Given the description of an element on the screen output the (x, y) to click on. 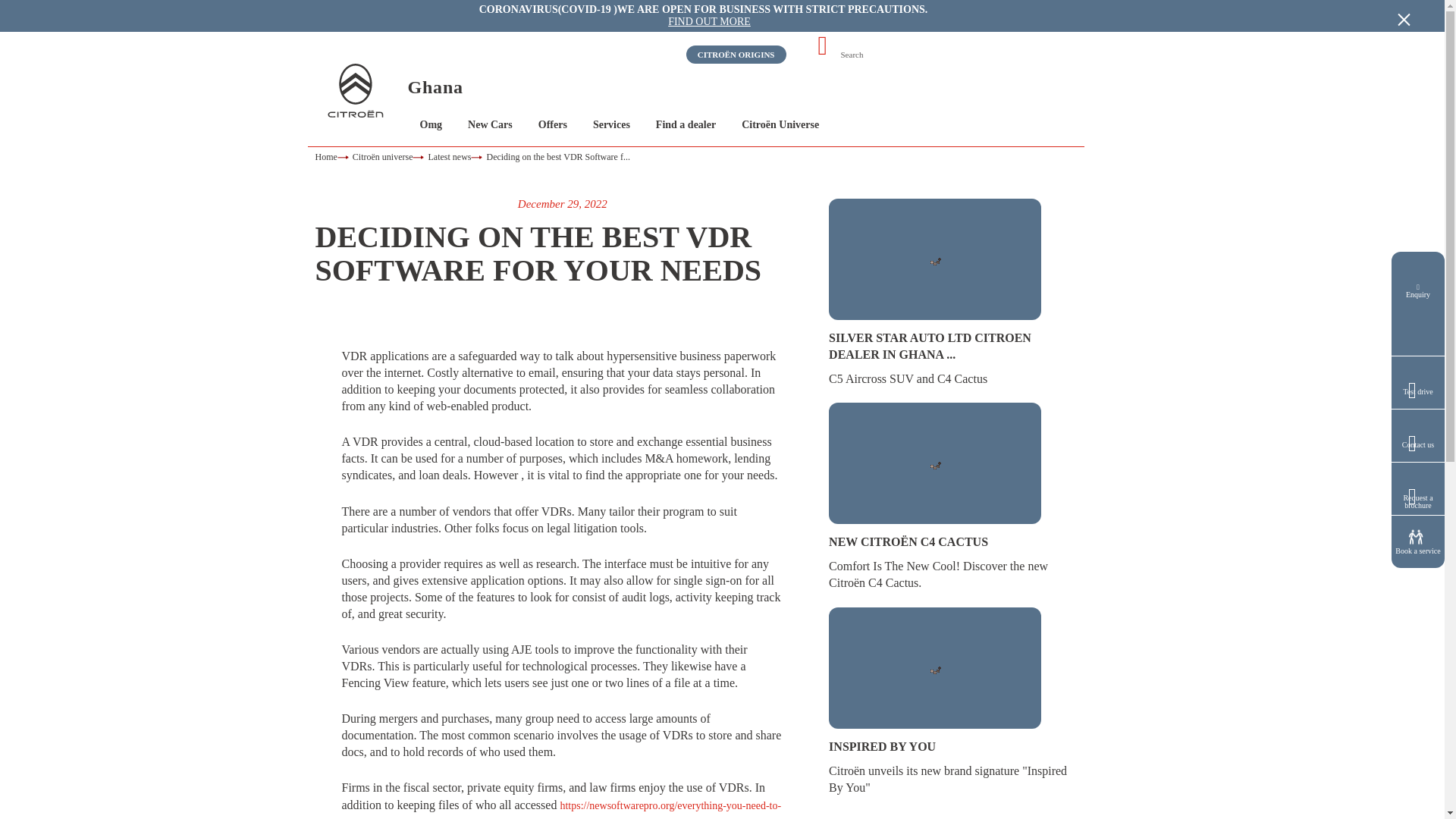
New Cars (489, 124)
Find a dealer (686, 124)
Ghana (435, 86)
Latest news (457, 156)
Home (333, 156)
Offers (552, 124)
Search on this site (896, 55)
FIND OUT MORE (709, 21)
Services (611, 124)
Omg (431, 124)
